Given the description of an element on the screen output the (x, y) to click on. 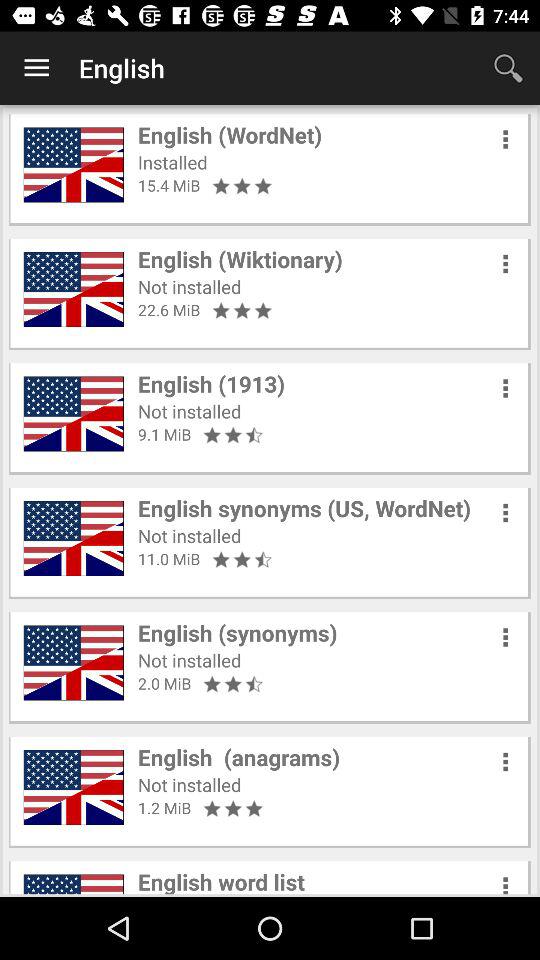
flip until english (wiktionary) icon (240, 259)
